Given the description of an element on the screen output the (x, y) to click on. 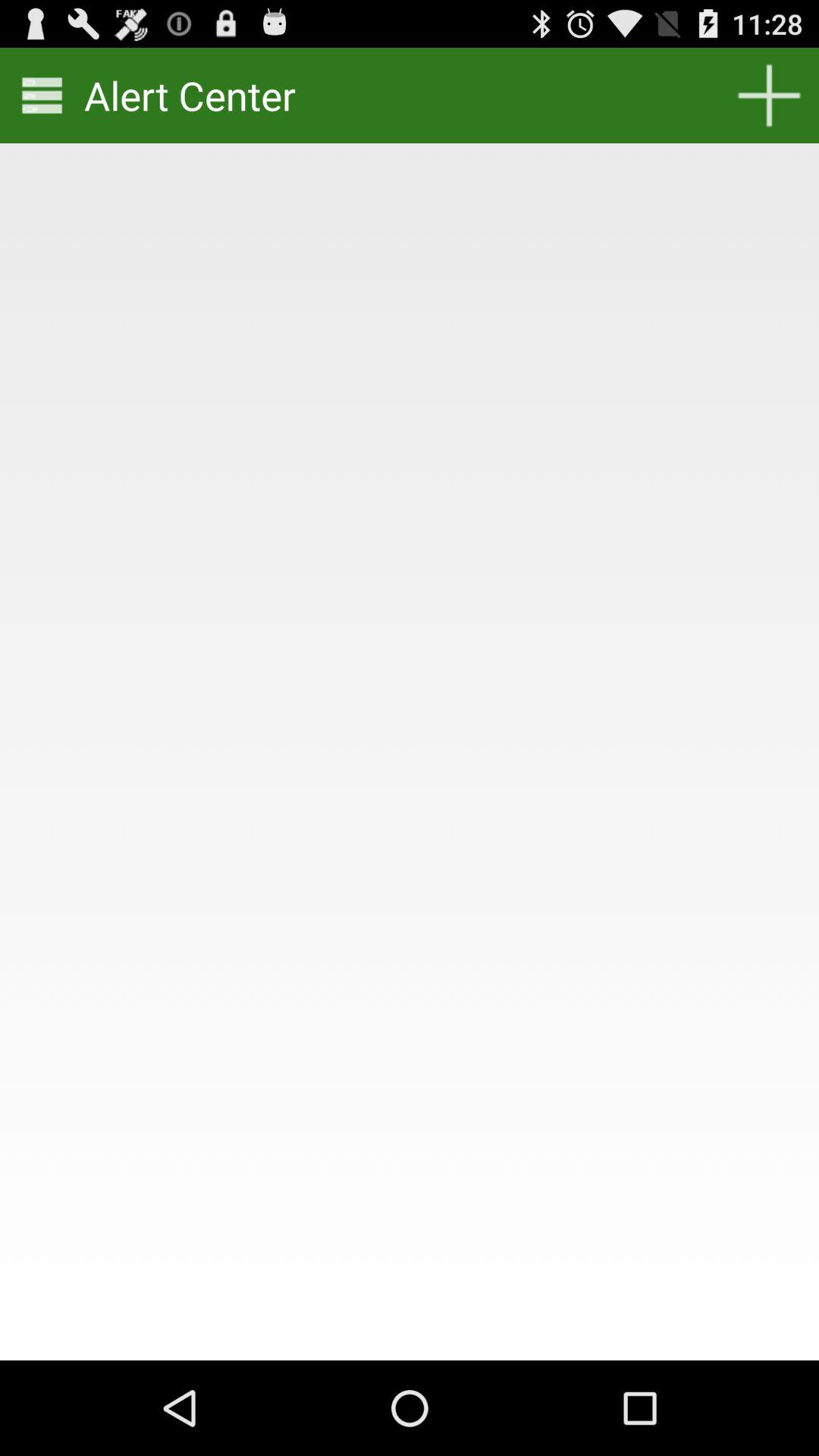
tap icon at the top left corner (41, 95)
